Given the description of an element on the screen output the (x, y) to click on. 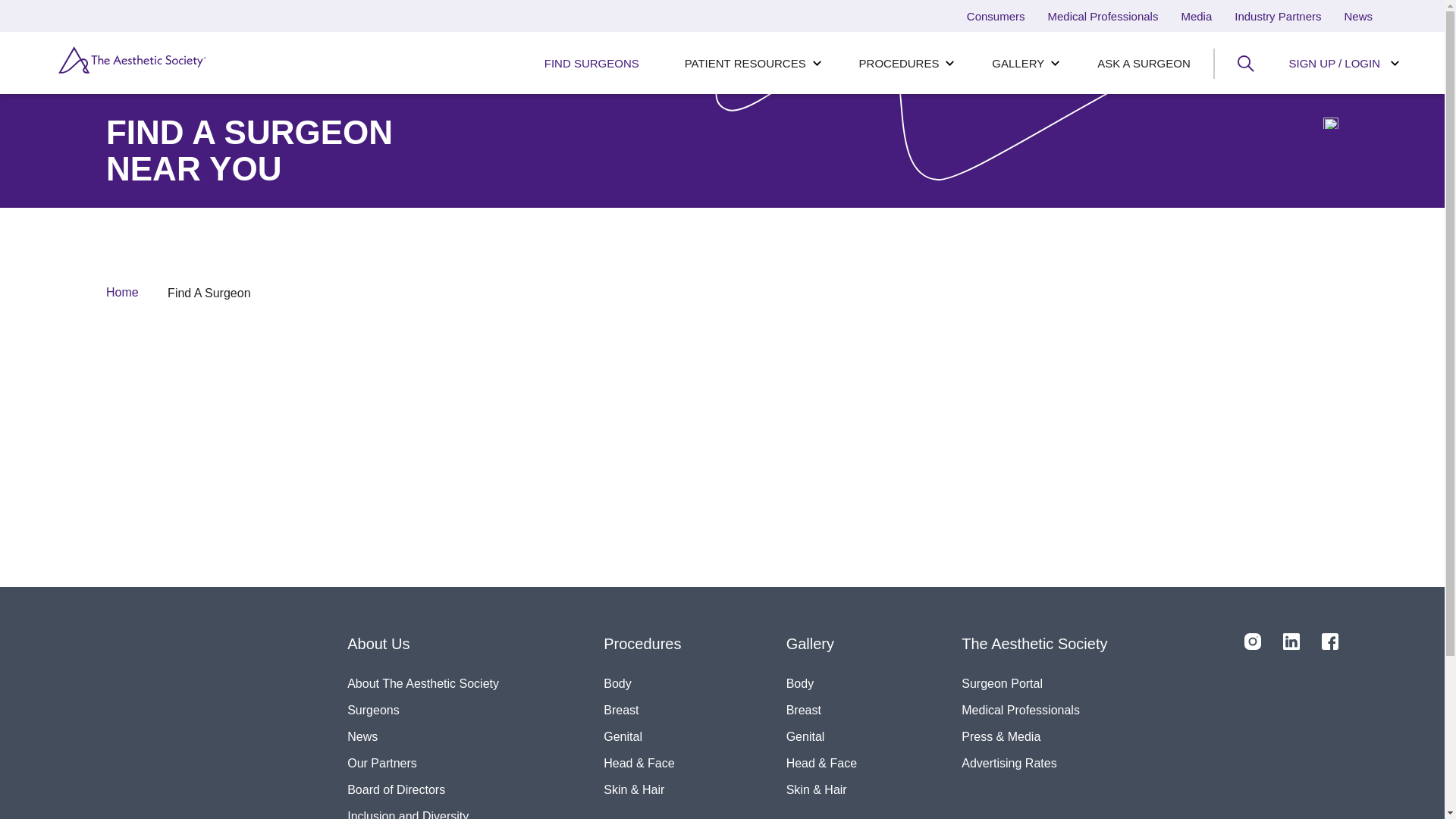
Genital (821, 736)
Genital (642, 736)
About The Aesthetic Society (423, 683)
PATIENT RESOURCES (748, 63)
FIND SURGEONS (591, 63)
The Aesthetic Society Inclusion and Diversity Statement (423, 811)
Board of Directors (423, 789)
Medical Professionals (1033, 709)
Our Partners (423, 763)
